Given the description of an element on the screen output the (x, y) to click on. 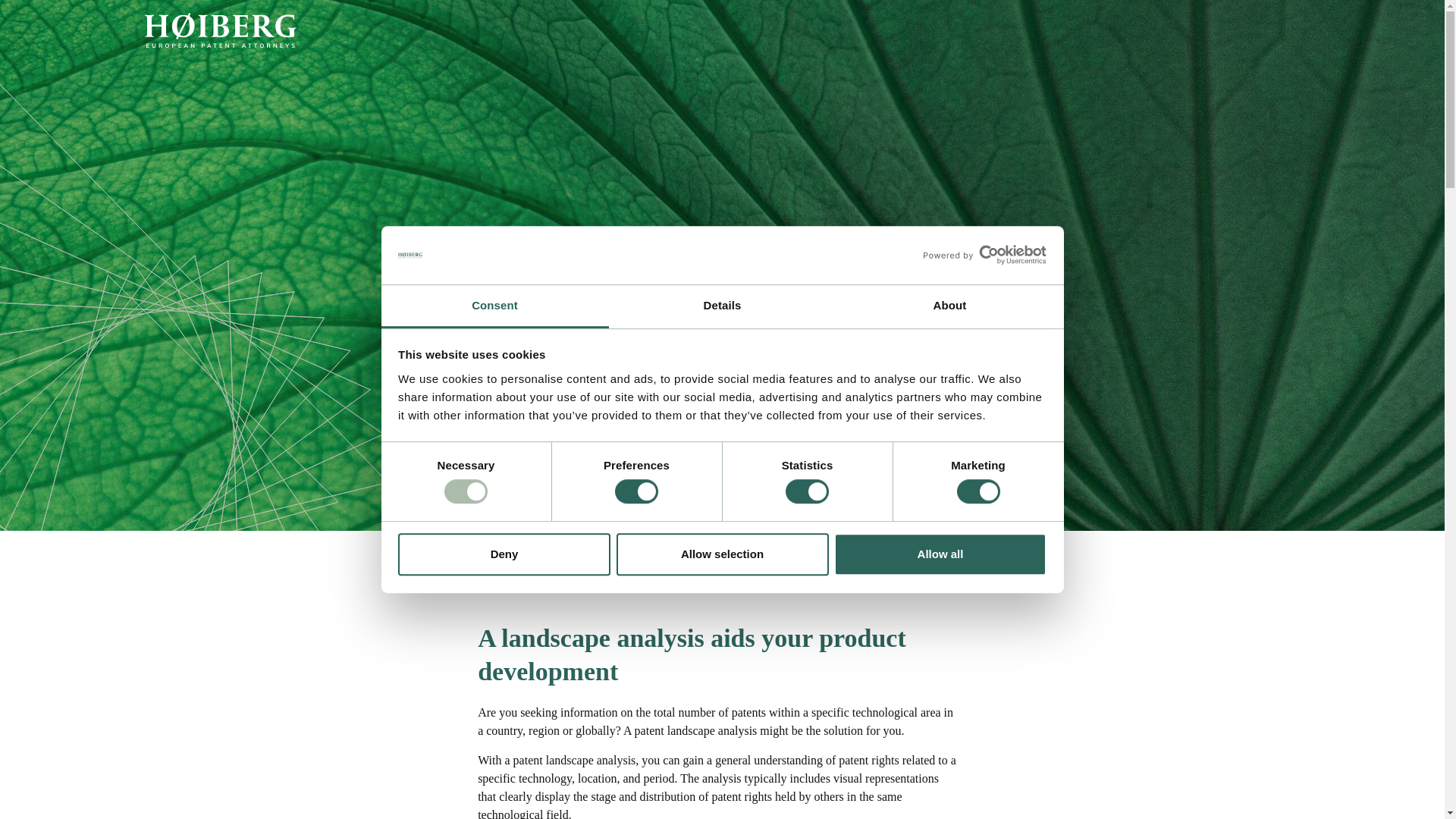
Consent (494, 306)
Details (721, 306)
Allow selection (721, 554)
Allow all (940, 554)
Deny (503, 554)
About (948, 306)
